Given the description of an element on the screen output the (x, y) to click on. 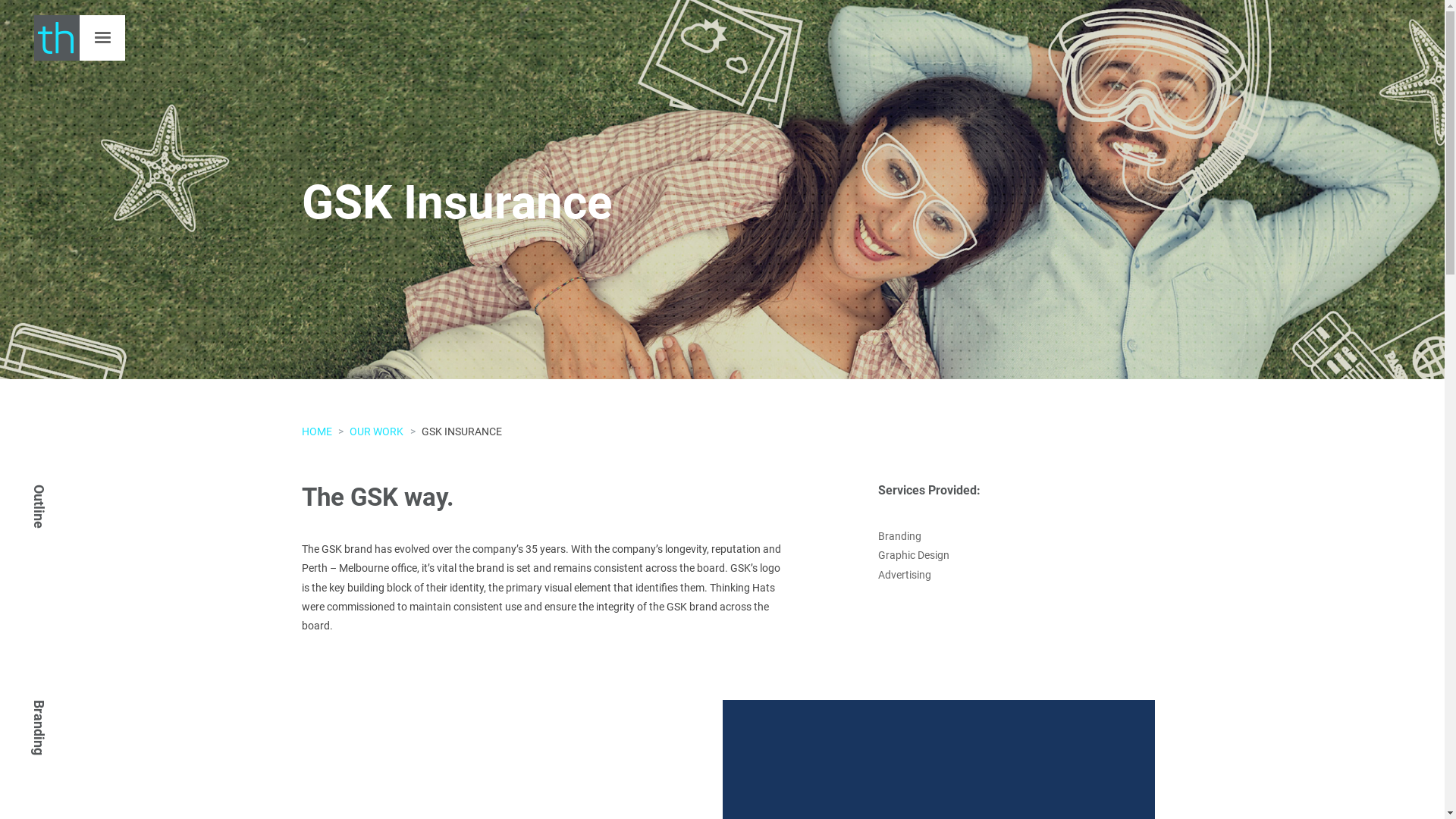
OUR WORK Element type: text (376, 431)
HOME Element type: text (316, 431)
